Given the description of an element on the screen output the (x, y) to click on. 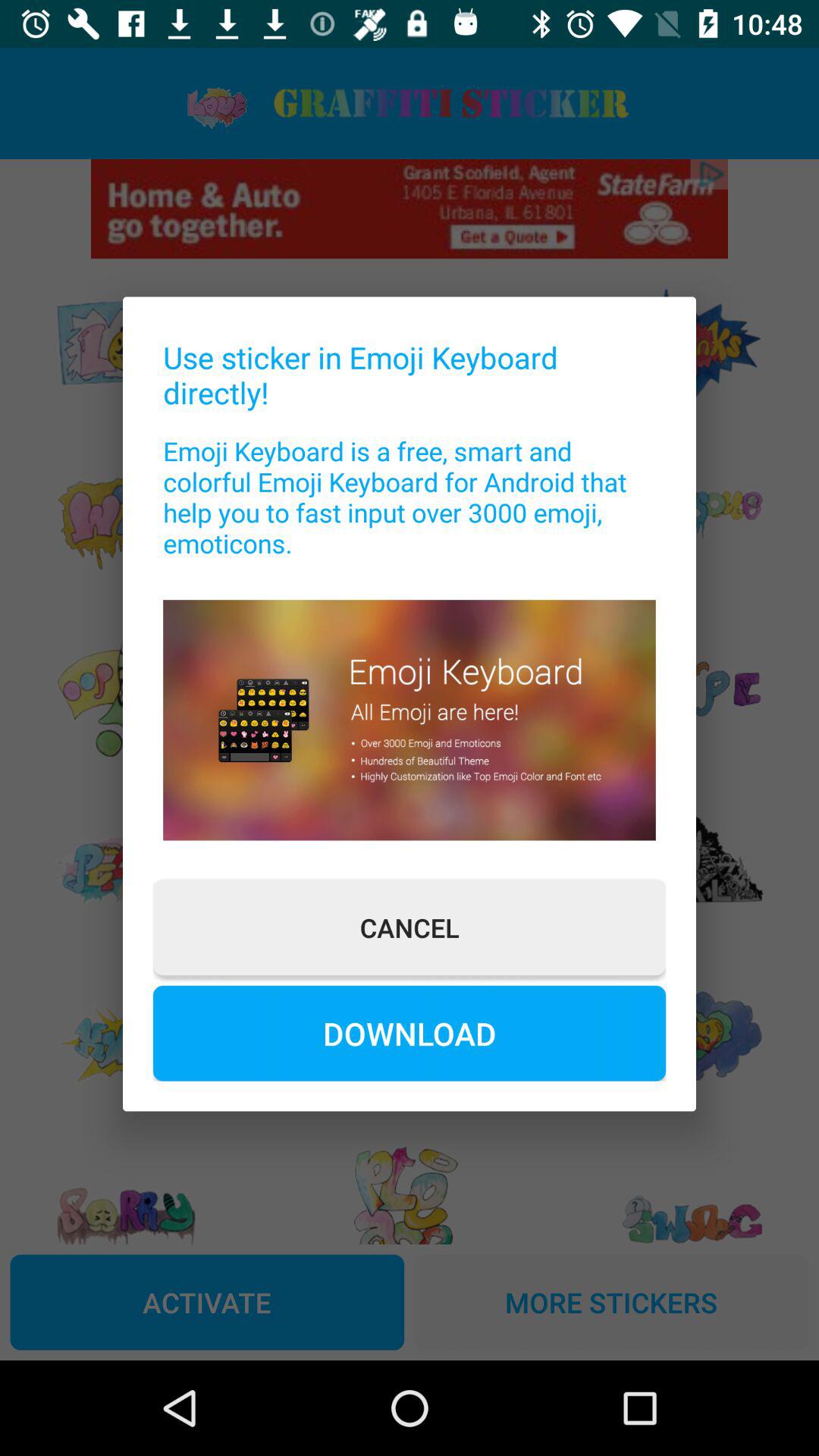
jump to download (409, 1033)
